Given the description of an element on the screen output the (x, y) to click on. 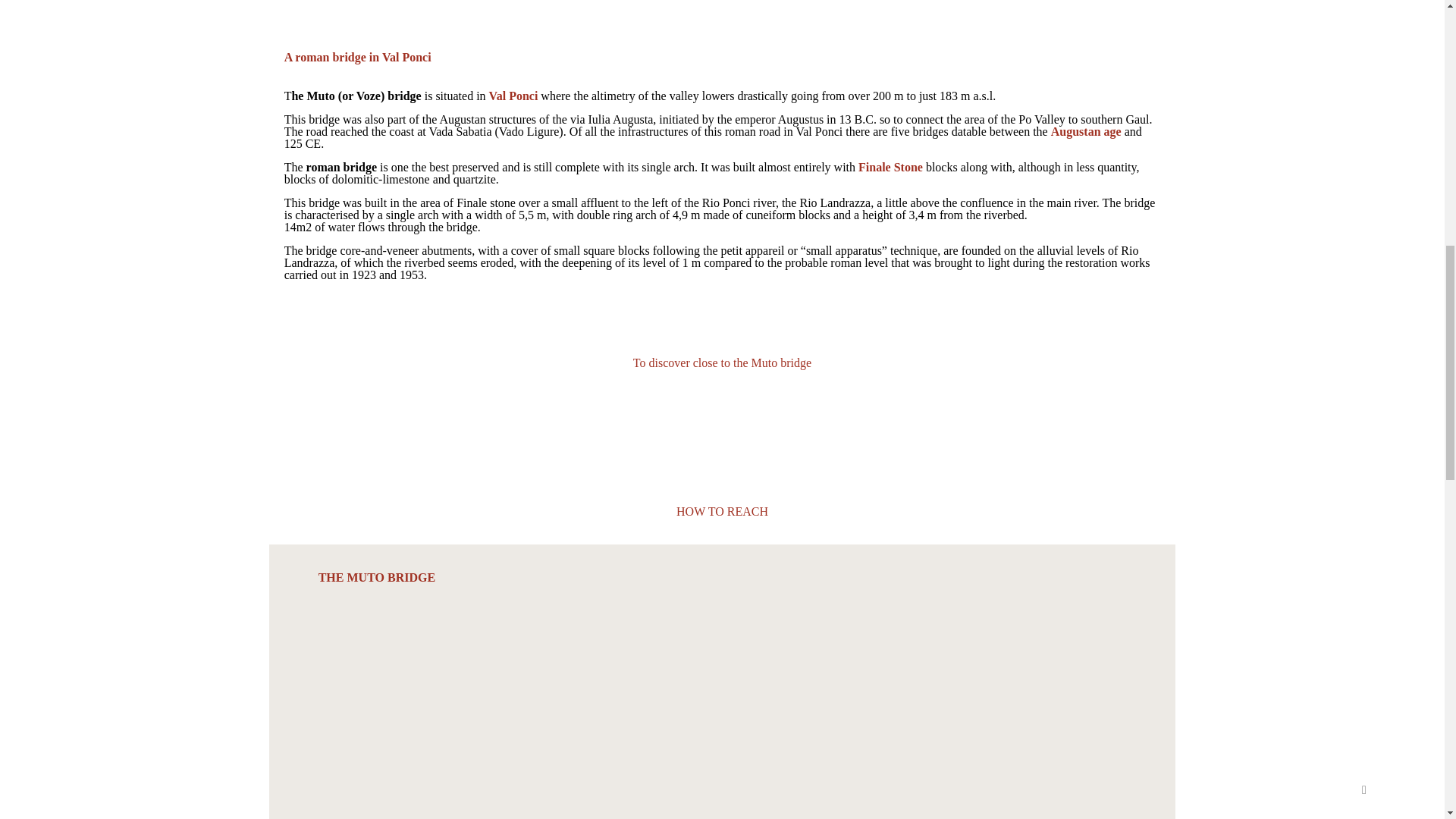
Val Ponci (513, 95)
Finale Stone (891, 166)
Augustan age (1086, 131)
